Given the description of an element on the screen output the (x, y) to click on. 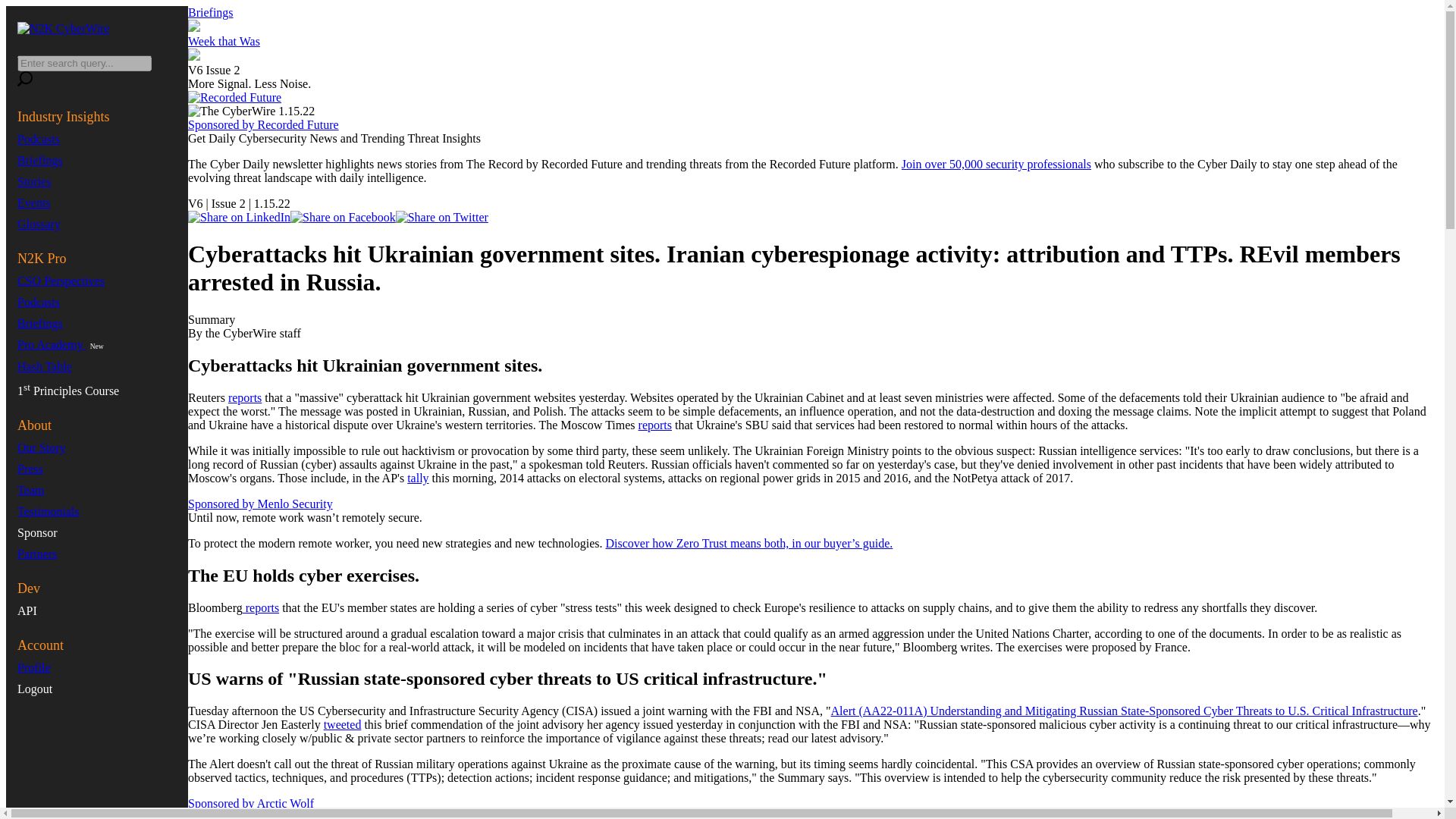
CSO Perspectives (60, 280)
API (27, 610)
Sponsor (36, 532)
1st Principles Course (68, 390)
Profile (33, 667)
Team (30, 490)
Glossary (39, 223)
Our Story (41, 447)
Partners (36, 553)
Search the site (24, 78)
